Given the description of an element on the screen output the (x, y) to click on. 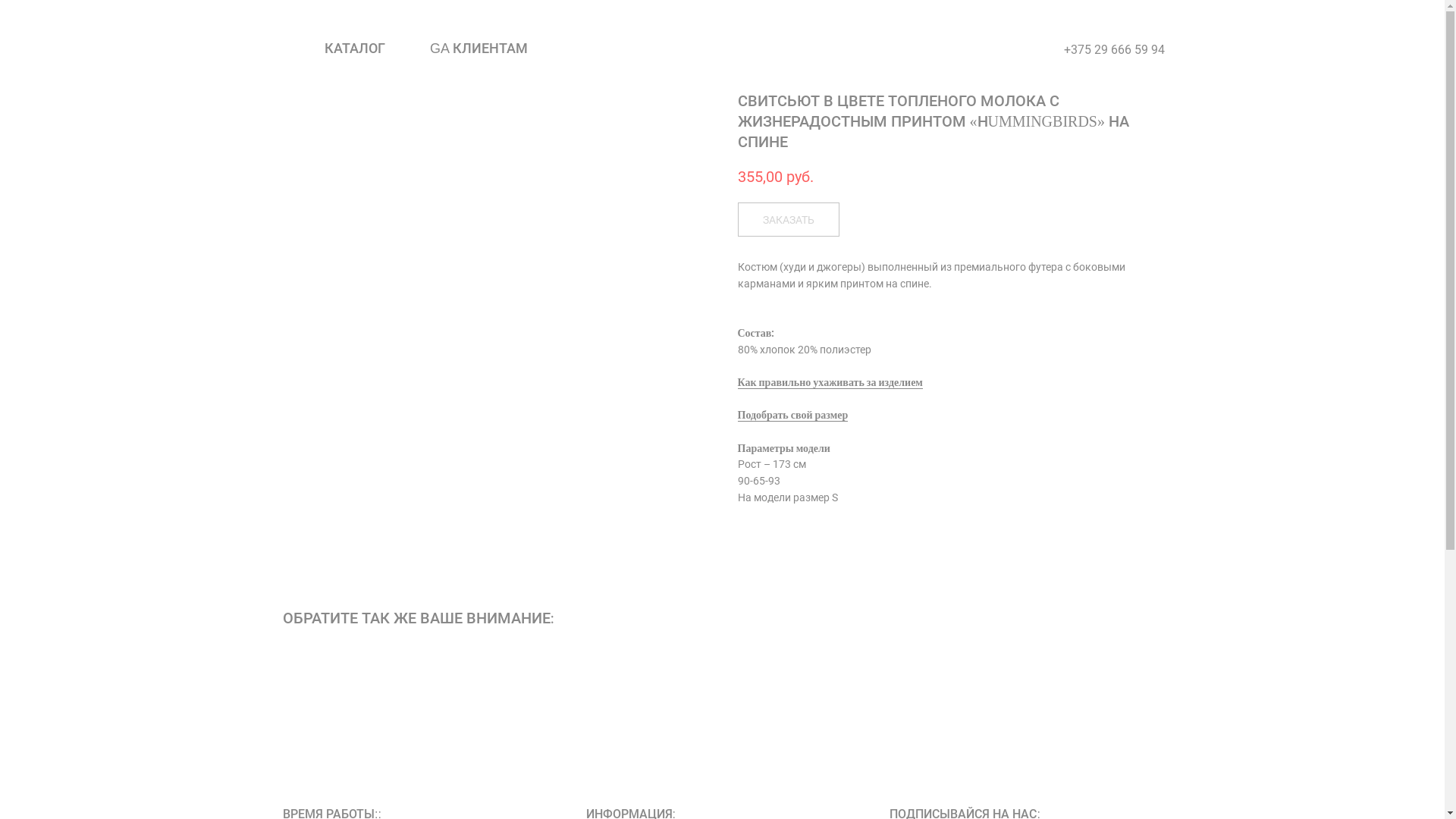
+375 29 666 59 94 Element type: text (1113, 49)
